Given the description of an element on the screen output the (x, y) to click on. 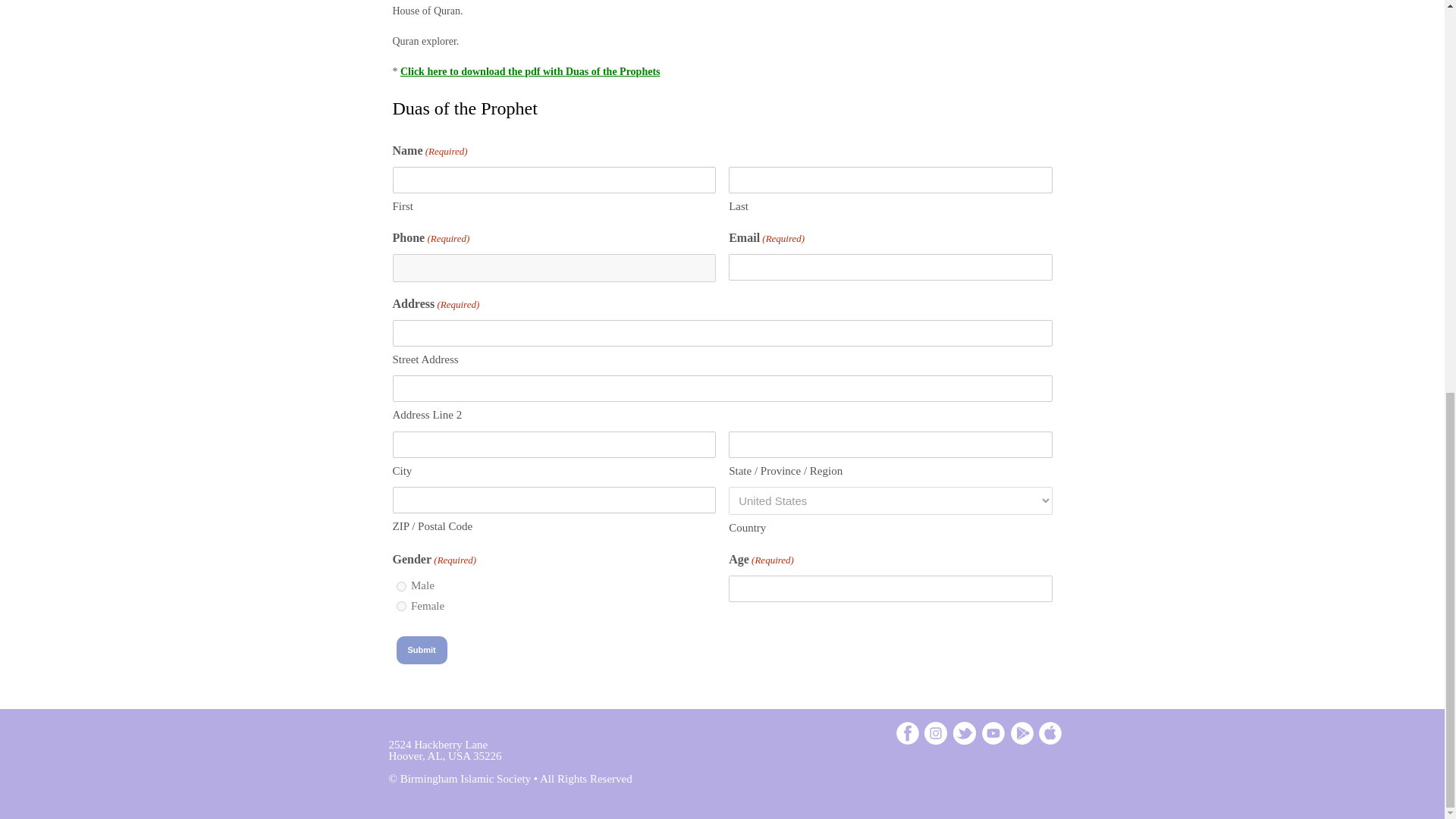
Submit (421, 650)
Male (401, 585)
Female (401, 605)
